Given the description of an element on the screen output the (x, y) to click on. 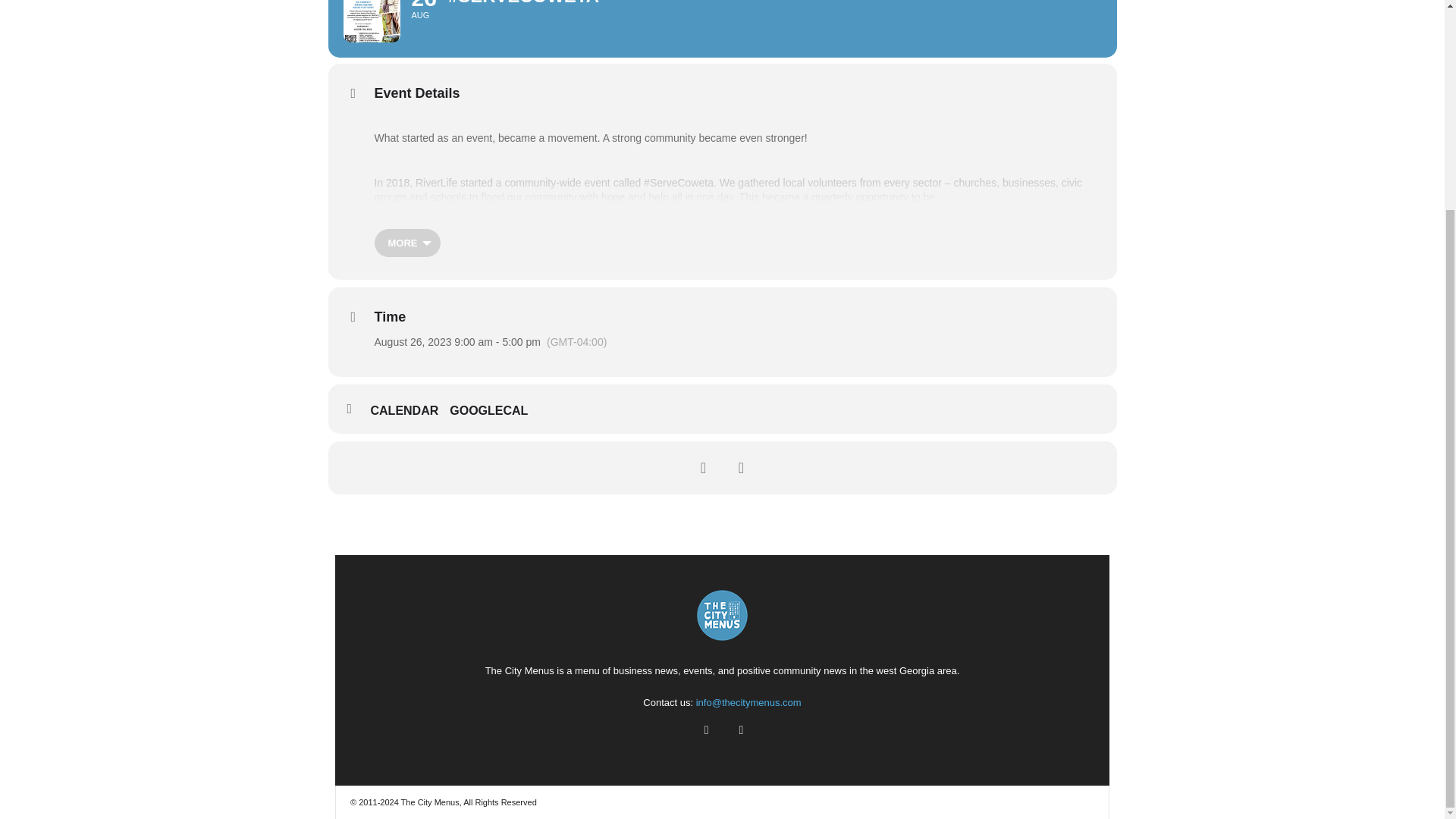
Instagram (739, 730)
Share on Twitter (741, 467)
Add to google calendar (493, 410)
Facebook (705, 730)
Share on facebook (703, 467)
Add to your calendar (409, 410)
